Given the description of an element on the screen output the (x, y) to click on. 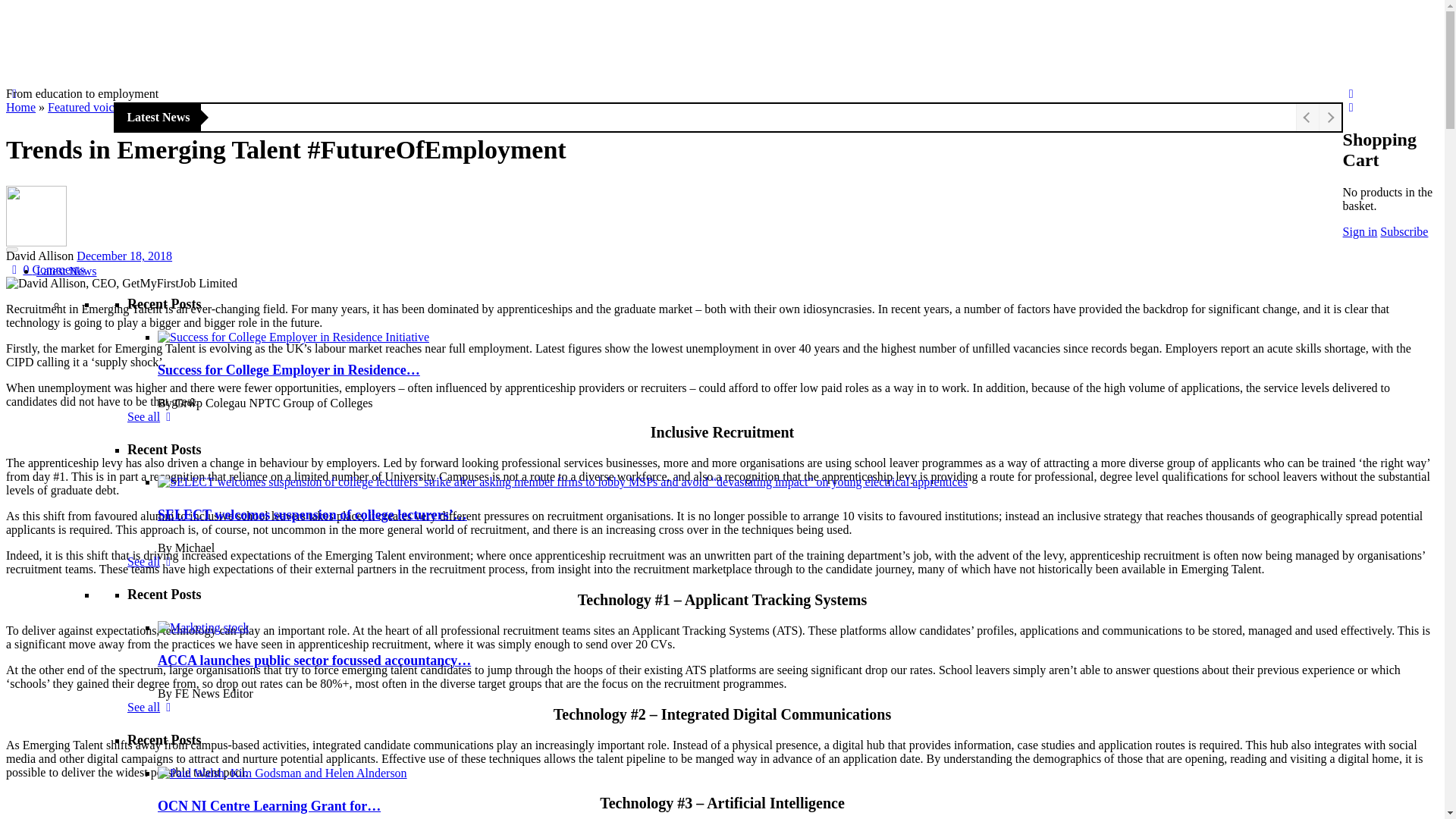
See all (152, 561)
See all (152, 707)
Latest News (66, 270)
See all (152, 416)
Sign in (1359, 231)
Subscribe (1404, 231)
